Given the description of an element on the screen output the (x, y) to click on. 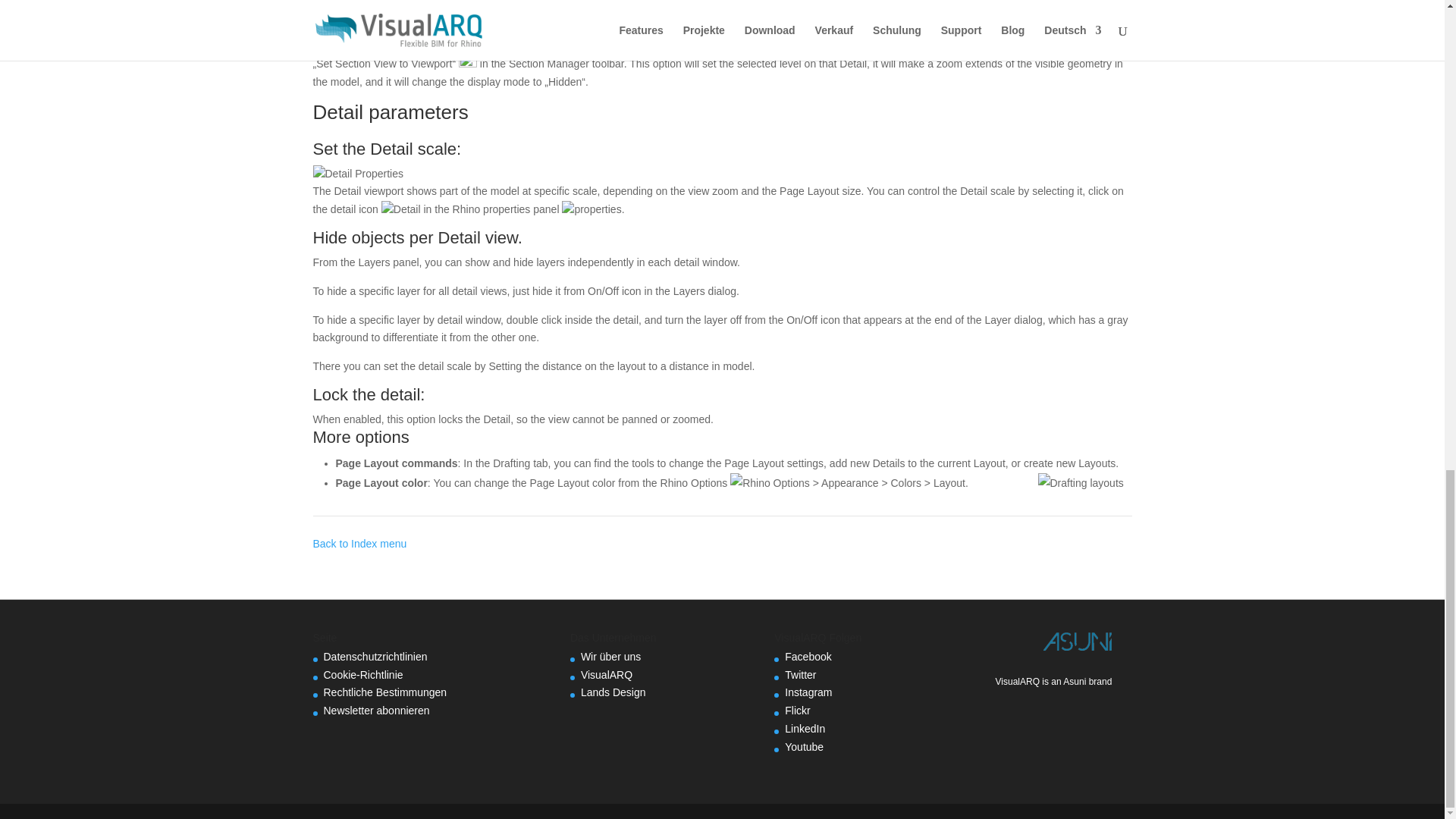
Datenschutzrichtlinien (374, 656)
Facebook (807, 656)
Cookie-Richtlinie (363, 674)
Back to Index menu (359, 543)
Newsletter abonnieren (376, 710)
Lands Design (613, 692)
VisualARQ (605, 674)
Instagram (807, 692)
Rechtliche Bestimmungen (384, 692)
Twitter (799, 674)
